Given the description of an element on the screen output the (x, y) to click on. 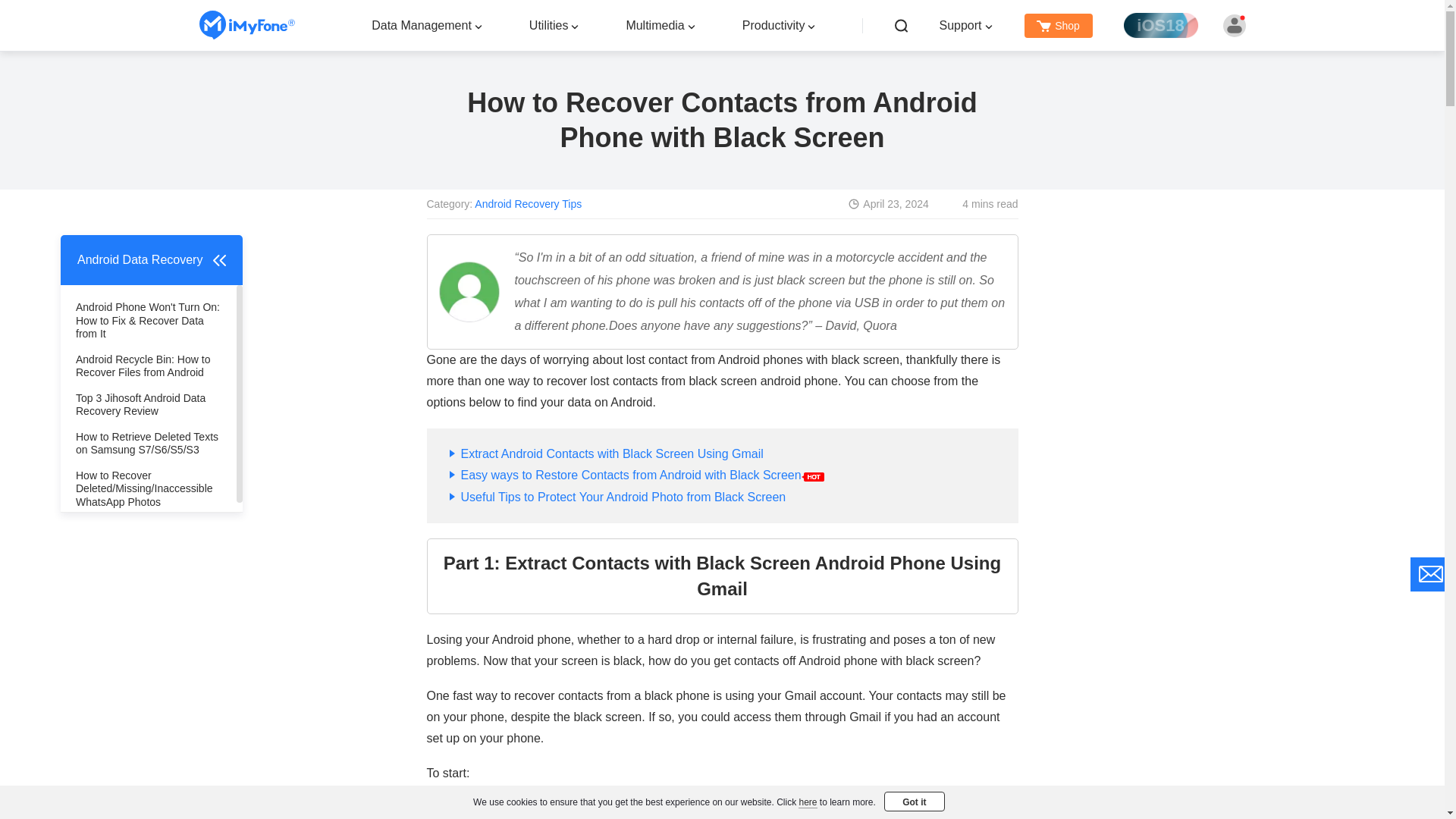
Data Management (421, 24)
Utilities (549, 24)
Multimedia (655, 24)
